Given the description of an element on the screen output the (x, y) to click on. 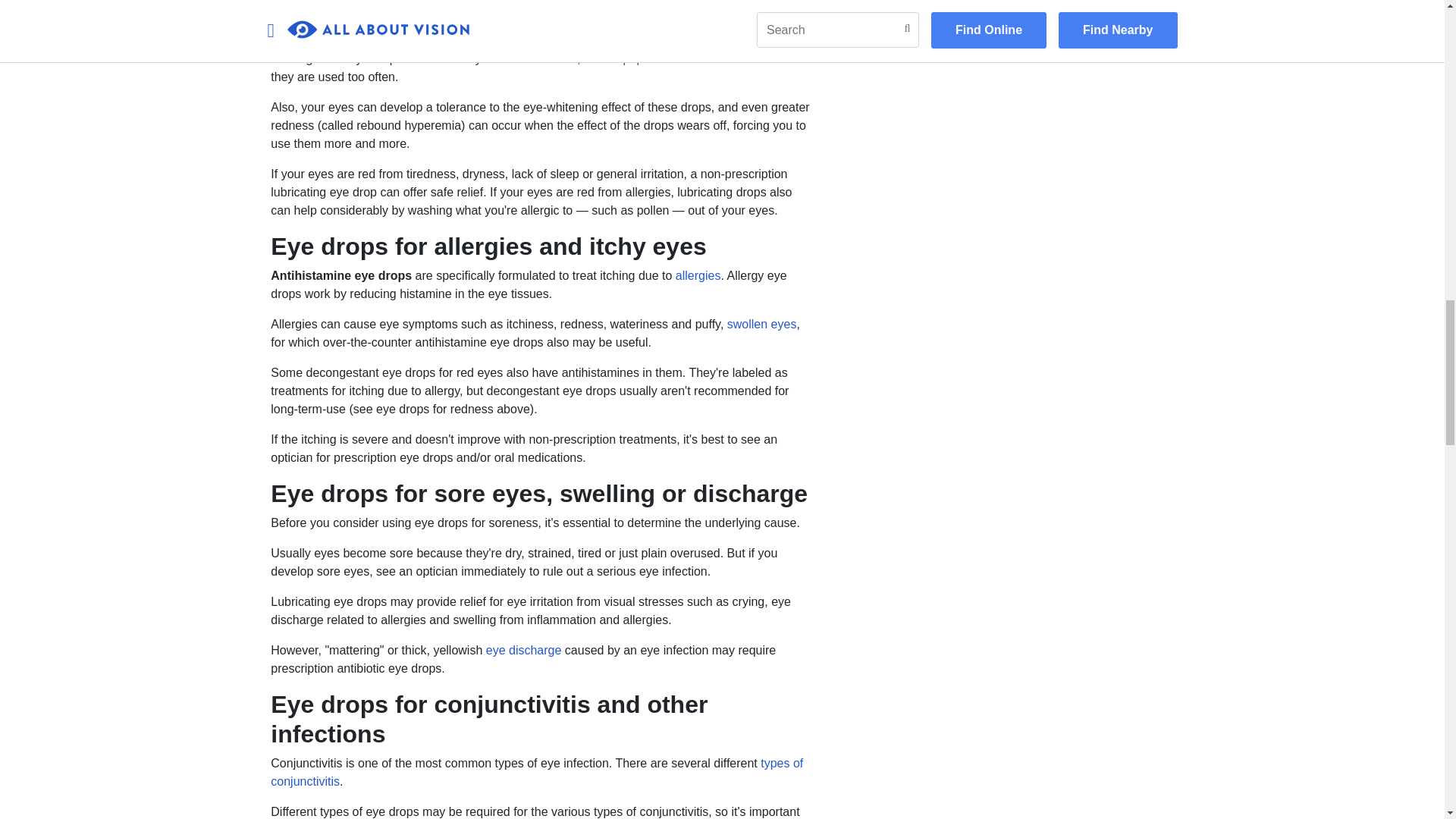
allergies (697, 275)
eye discharge (524, 649)
types of conjunctivitis (536, 771)
dilated pupils (618, 58)
swollen eyes (761, 323)
